Given the description of an element on the screen output the (x, y) to click on. 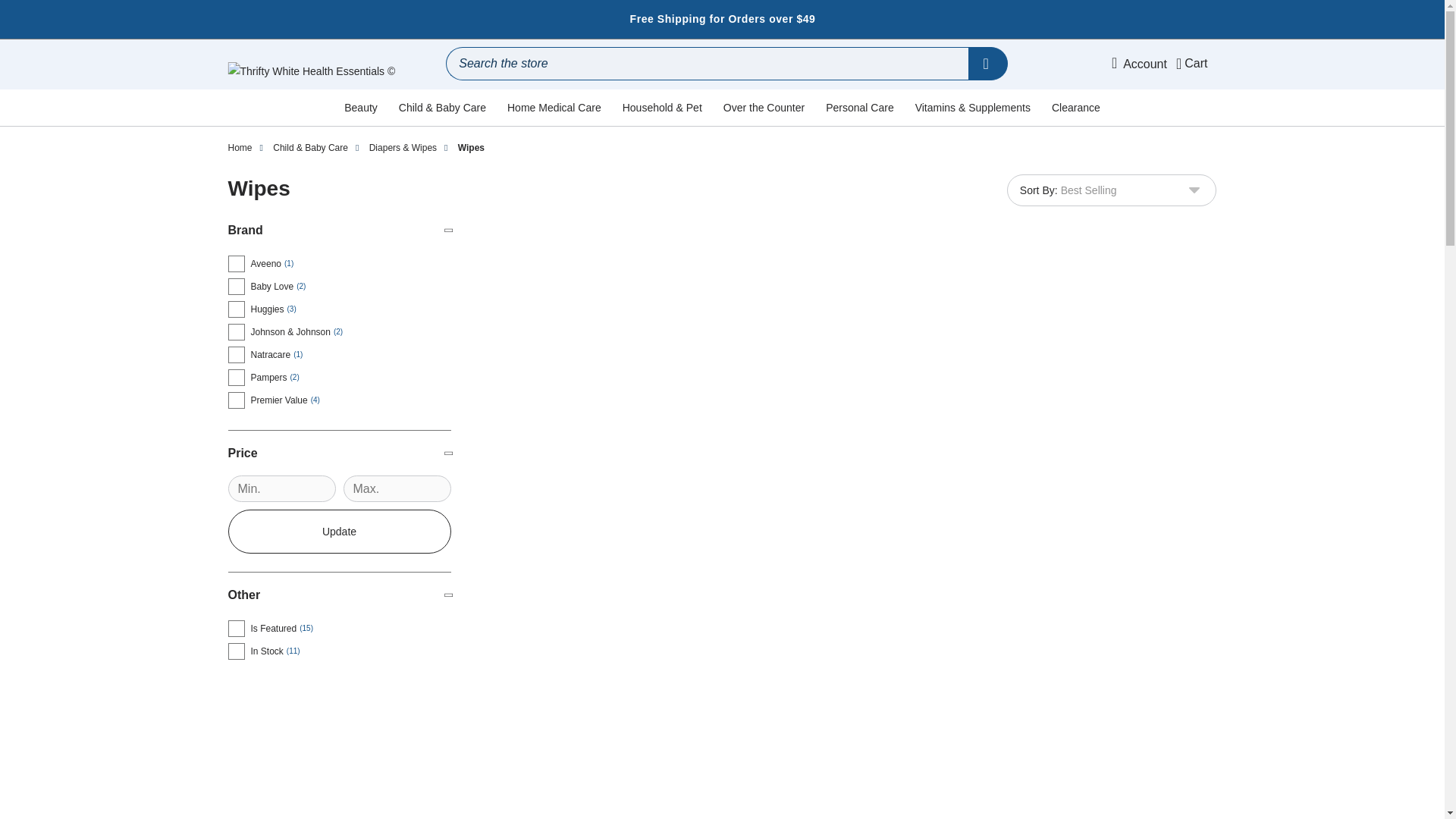
Update (338, 531)
Beauty (360, 107)
